Given the description of an element on the screen output the (x, y) to click on. 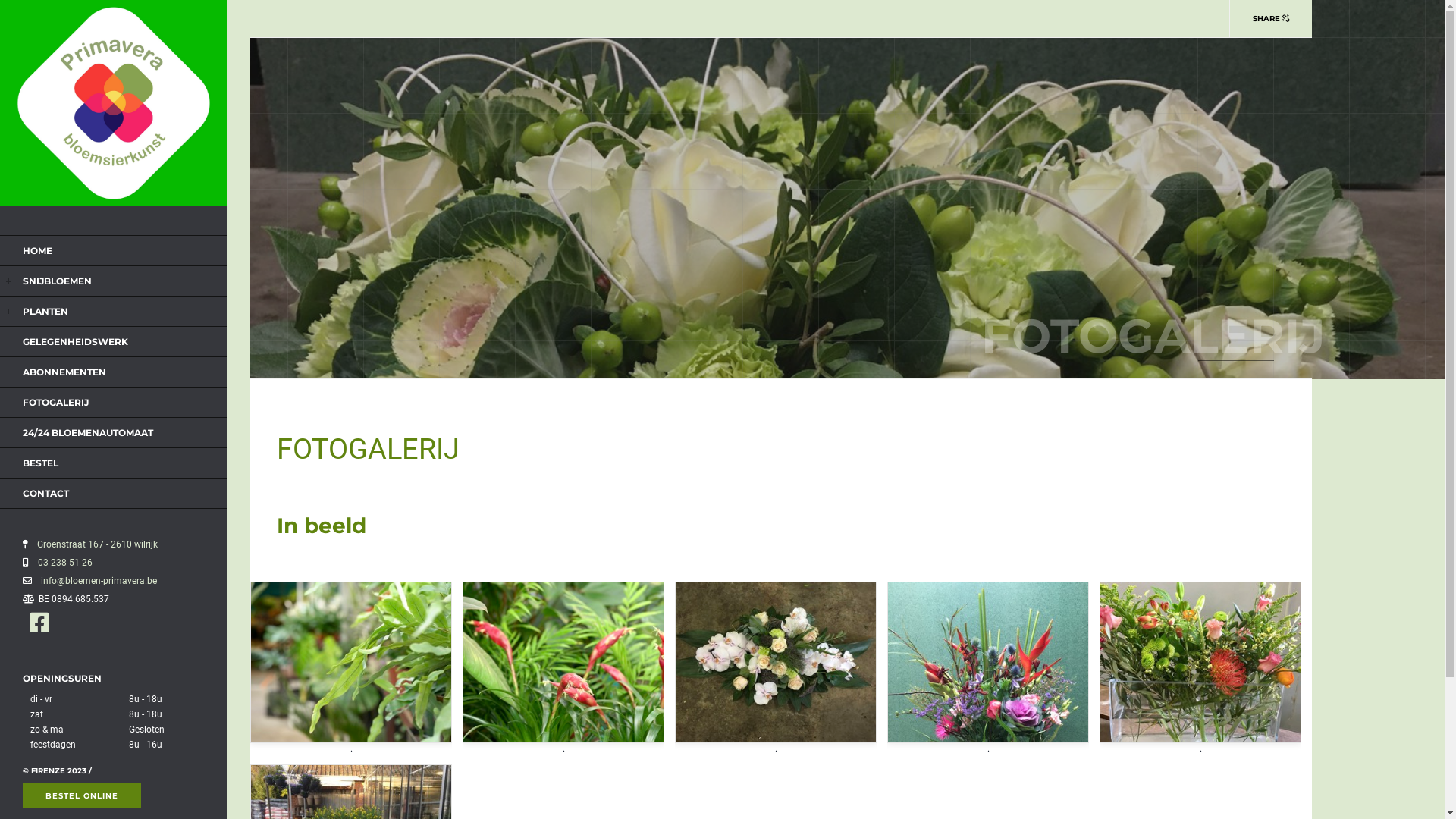
03 238 51 26 Element type: text (61, 562)
info@bloemen-primavera.be Element type: text (95, 580)
BESTEL ONLINE Element type: text (81, 795)
24/24 BLOEMENAUTOMAAT Element type: text (87, 432)
Groenstraat 167 - 2610 wilrijk Element type: text (93, 544)
SNIJBLOEMEN Element type: text (56, 280)
PLANTEN Element type: text (45, 310)
BESTEL Element type: text (40, 462)
CONTACT Element type: text (45, 492)
ABONNEMENTEN Element type: text (64, 371)
GELEGENHEIDSWERK Element type: text (75, 341)
FOTOGALERIJ Element type: text (55, 401)
HOME Element type: text (37, 250)
